Given the description of an element on the screen output the (x, y) to click on. 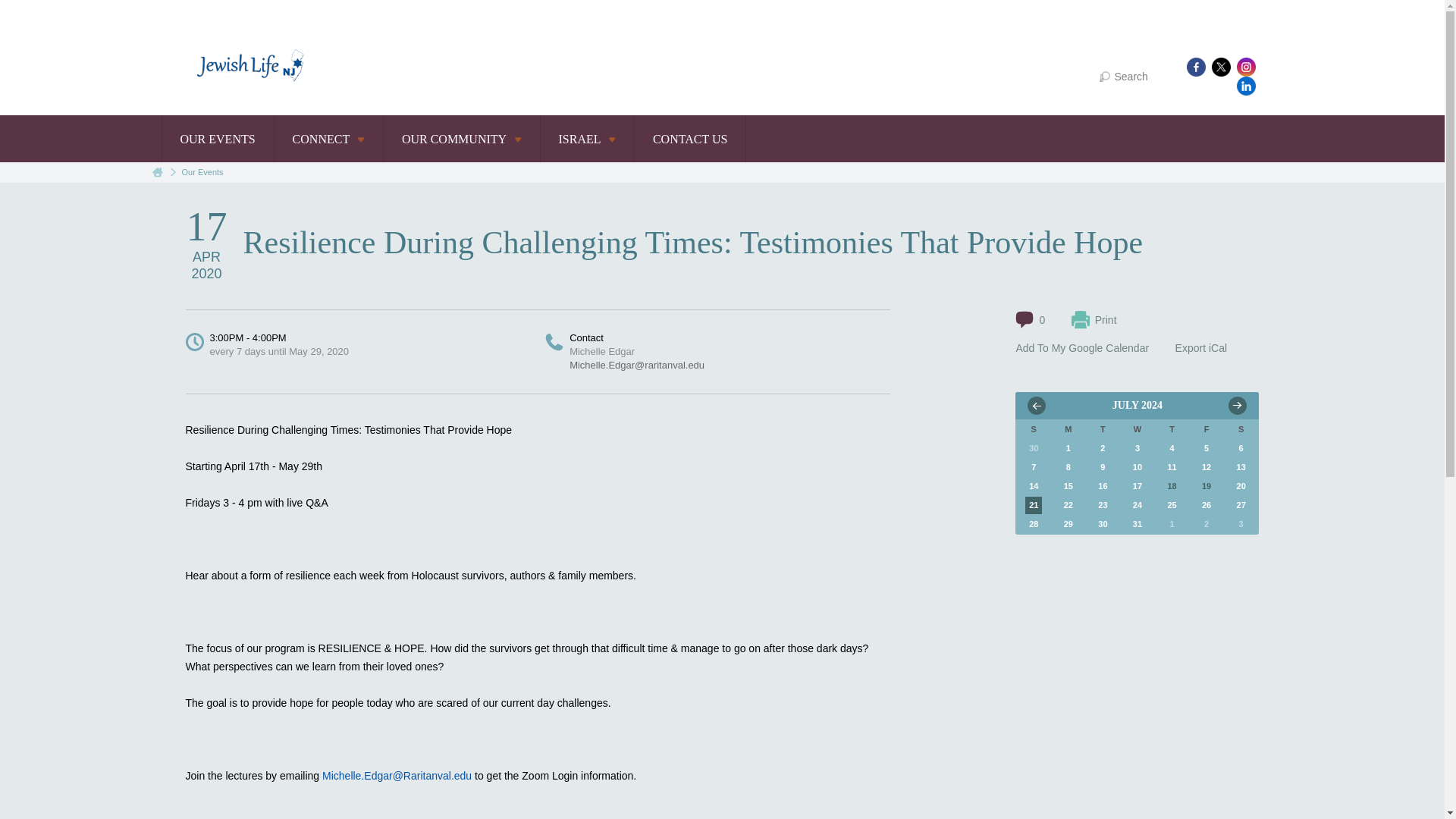
Next (1237, 405)
0 (1029, 320)
ISRAEL (586, 138)
OUR COMMUNITY (462, 138)
CONTACT US (689, 138)
Jewish Life NJ (244, 70)
Home (156, 172)
OUR EVENTS (217, 138)
Prev (1036, 405)
CONNECT (328, 138)
Search (1123, 76)
Our Events (203, 171)
